Given the description of an element on the screen output the (x, y) to click on. 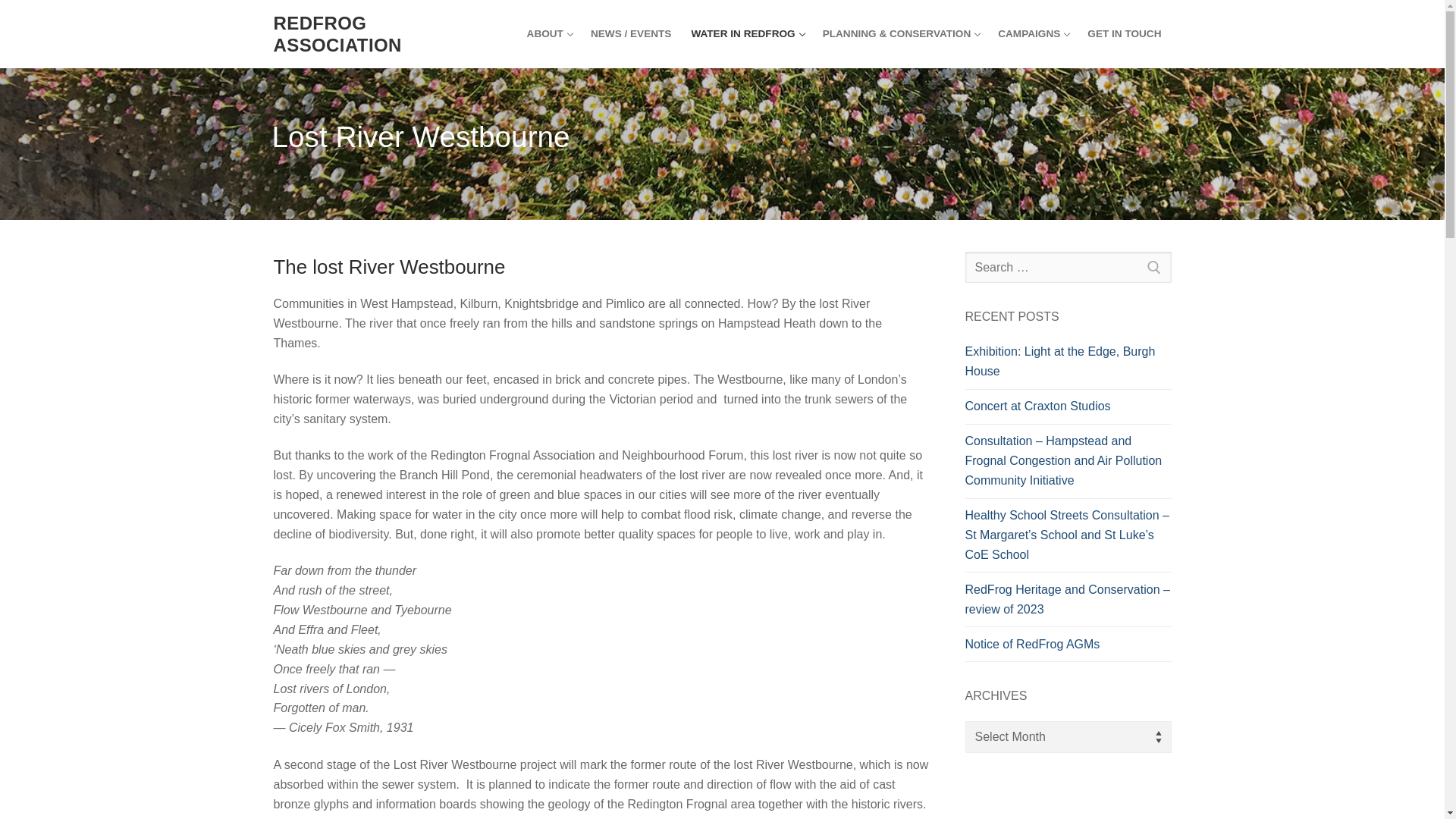
Search for: (1066, 267)
REDFROG ASSOCIATION (548, 33)
